Given the description of an element on the screen output the (x, y) to click on. 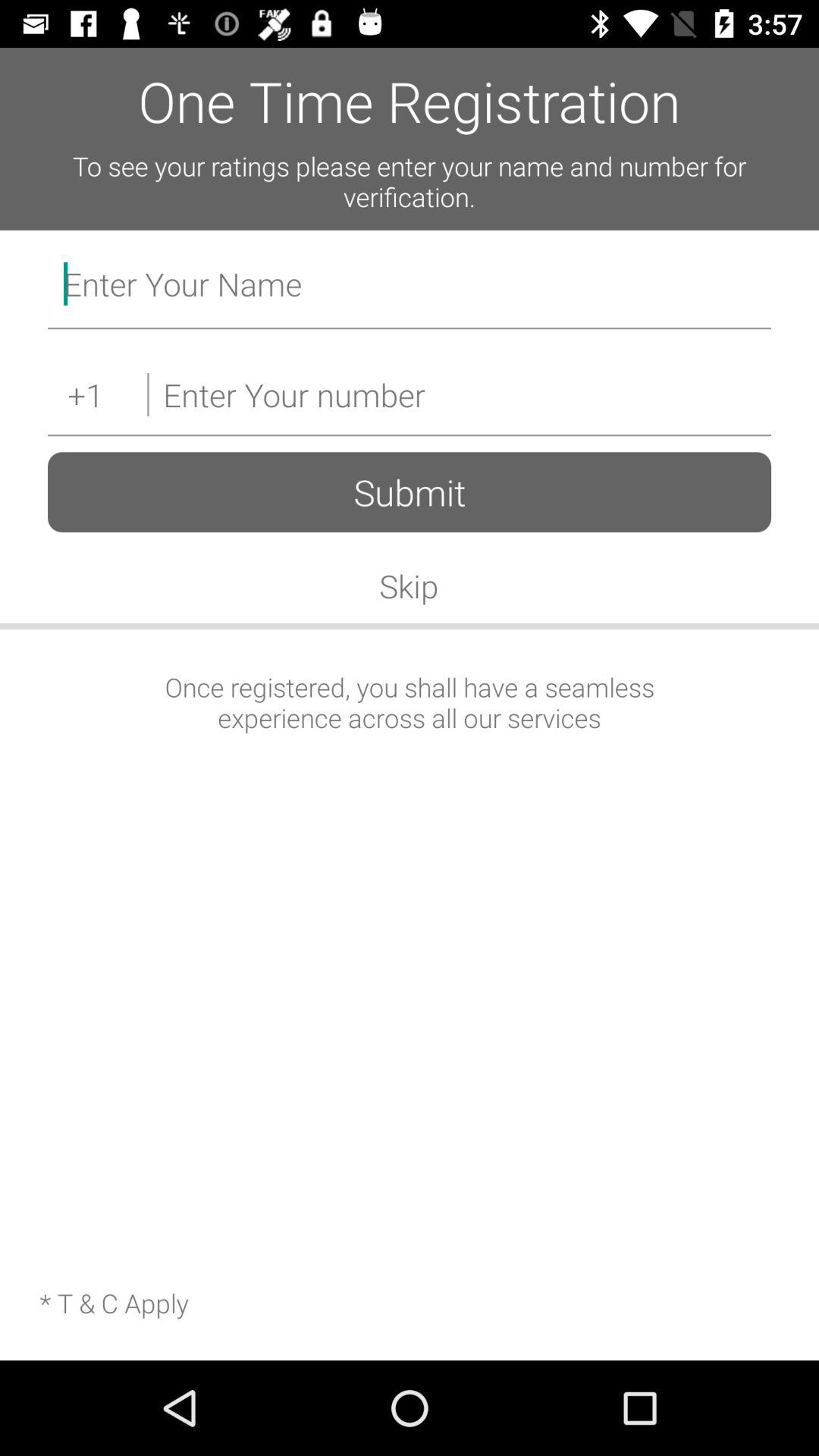
open the item above the skip (409, 492)
